Given the description of an element on the screen output the (x, y) to click on. 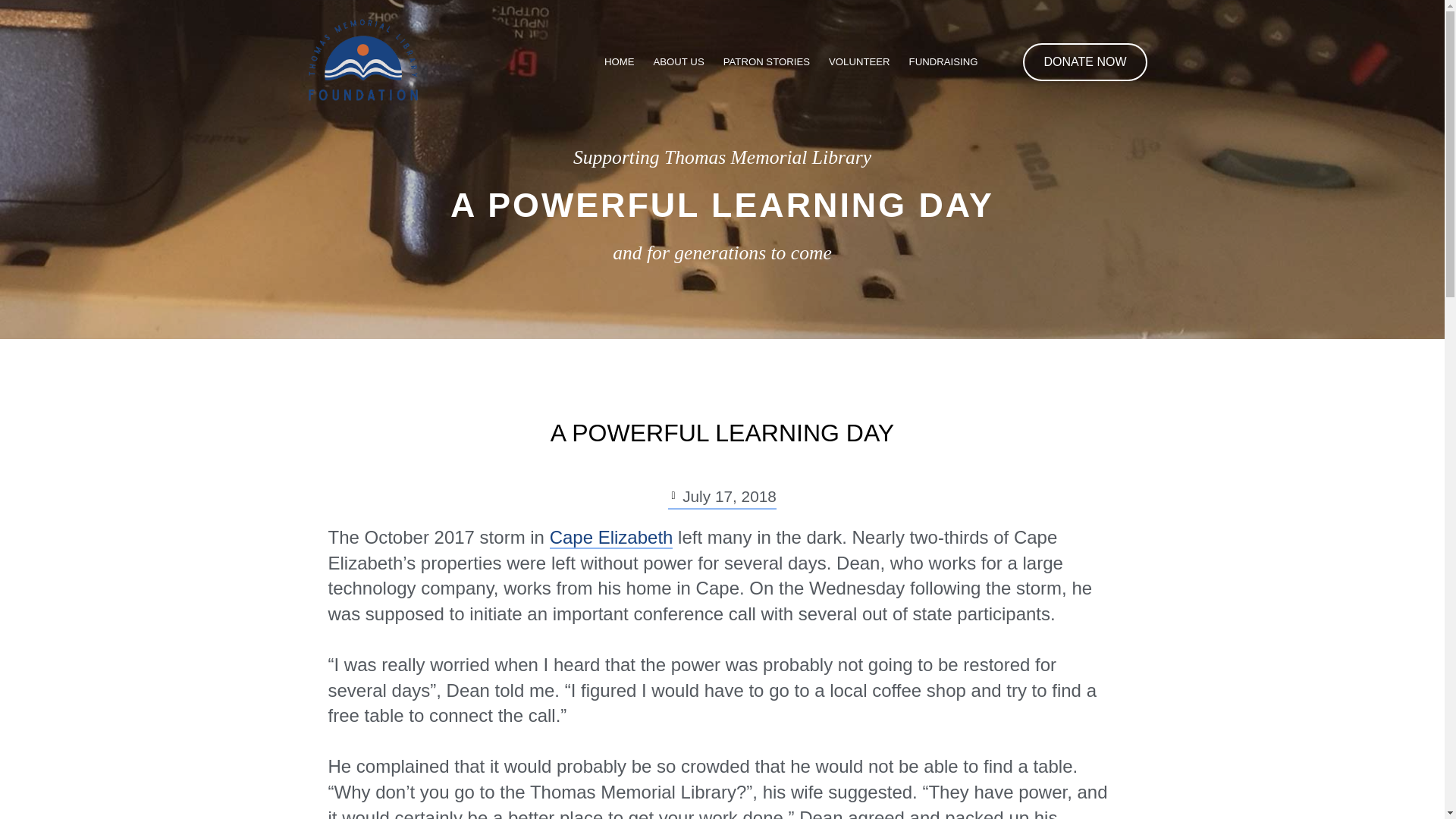
Cape Elizabeth (611, 537)
FUNDRAISING (943, 61)
July 17, 2018 (722, 496)
DONATE NOW (1085, 62)
VOLUNTEER (858, 61)
PATRON STORIES (766, 61)
HOME (619, 61)
ABOUT US (678, 61)
